Given the description of an element on the screen output the (x, y) to click on. 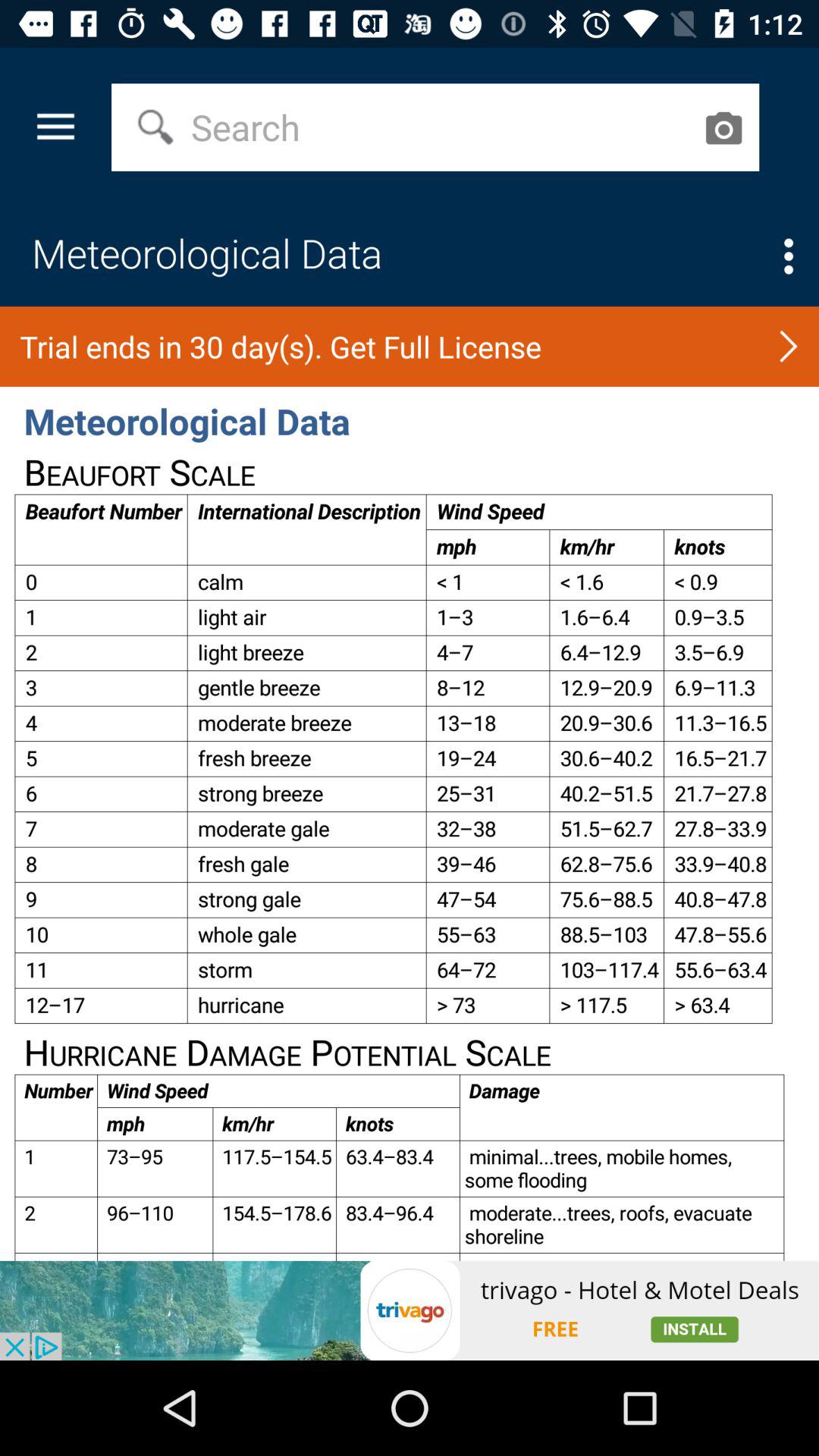
take photo (723, 127)
